Given the description of an element on the screen output the (x, y) to click on. 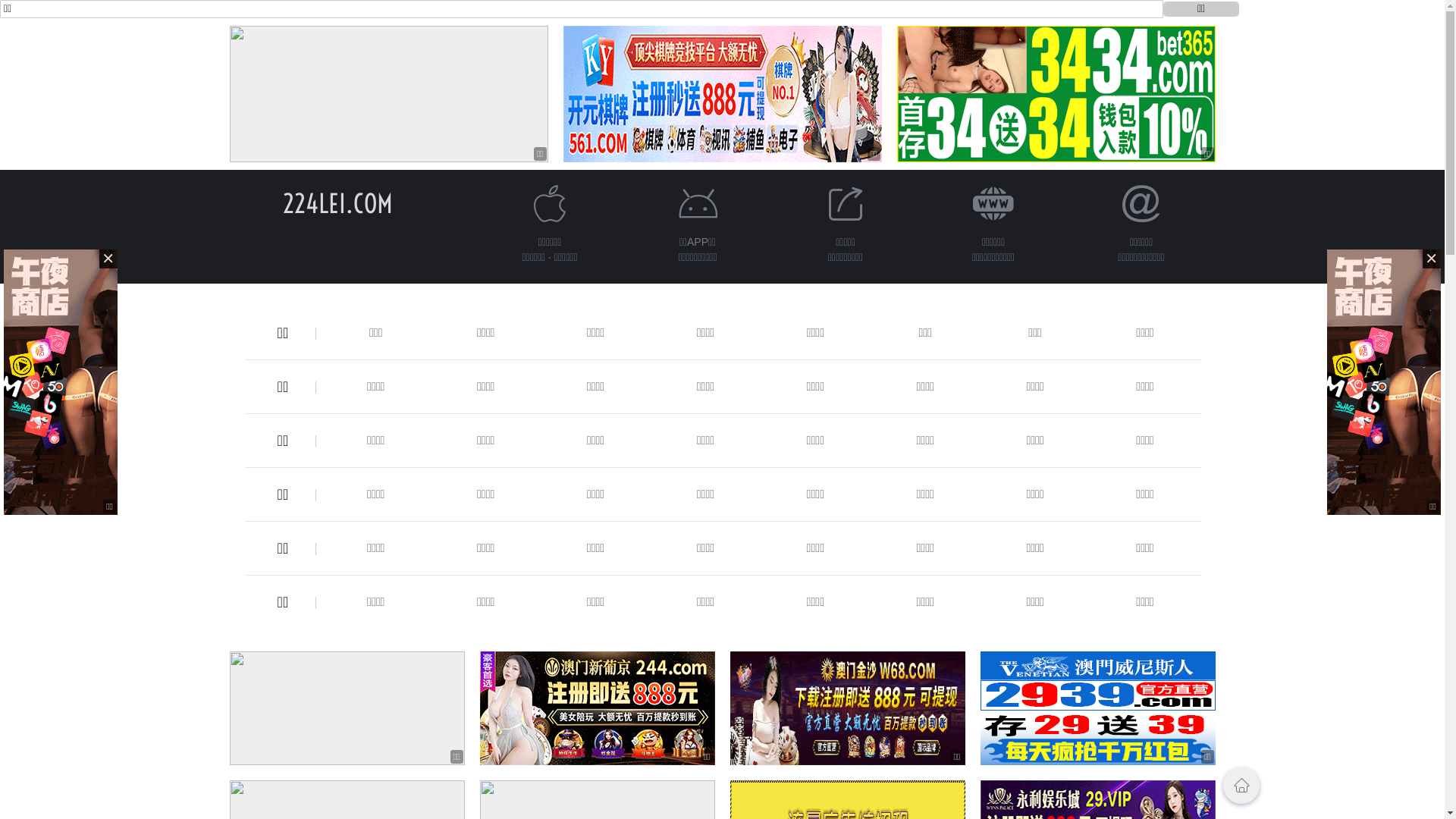
224LEI.COM Element type: text (337, 203)
